Given the description of an element on the screen output the (x, y) to click on. 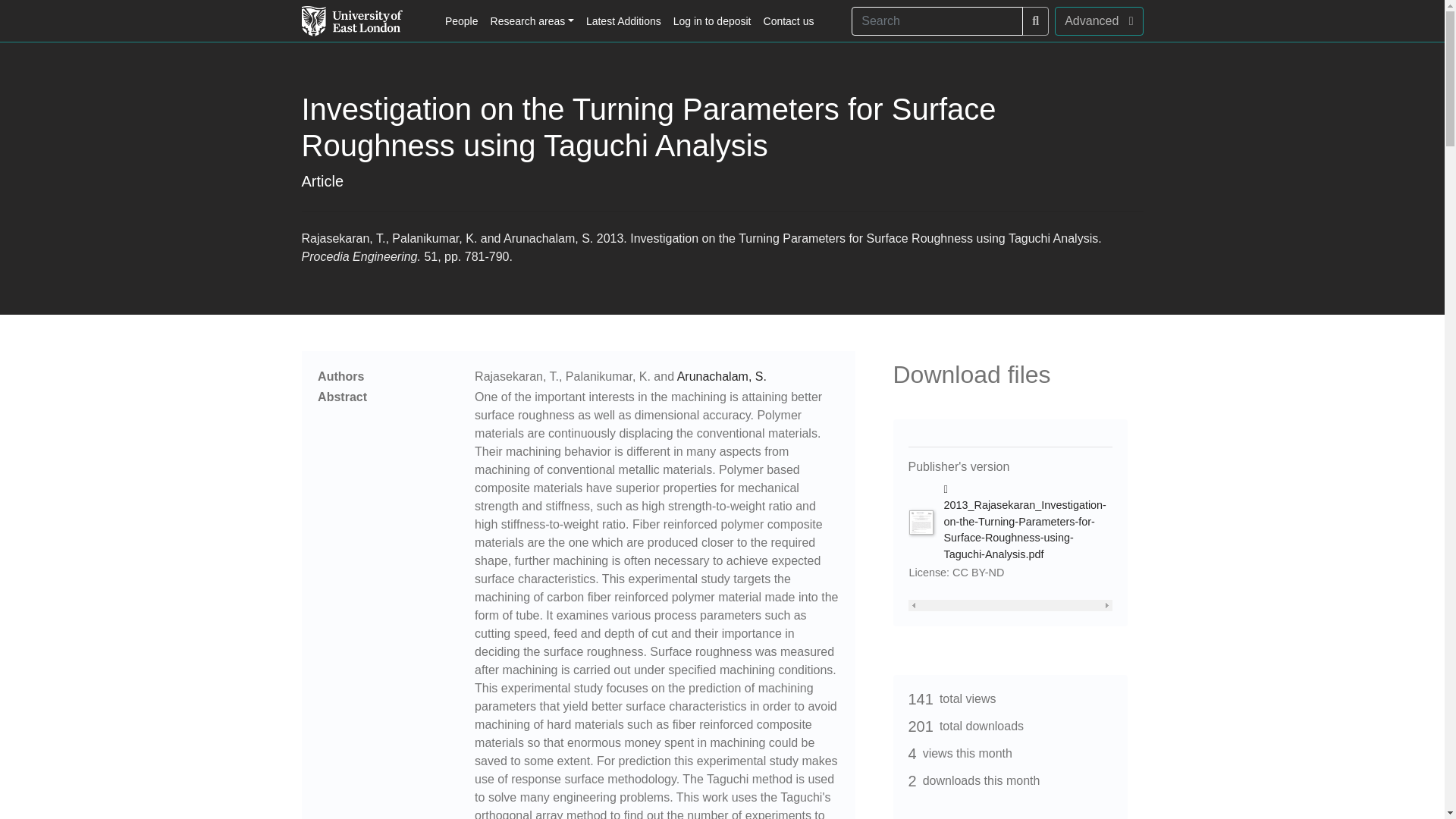
Arunachalam, S. (722, 376)
Latest Additions (622, 21)
Advanced search (1098, 21)
Log in to deposit (711, 21)
Research areas (531, 21)
People (461, 21)
Advanced   (1098, 21)
Search (1035, 21)
Contact us (789, 21)
